Given the description of an element on the screen output the (x, y) to click on. 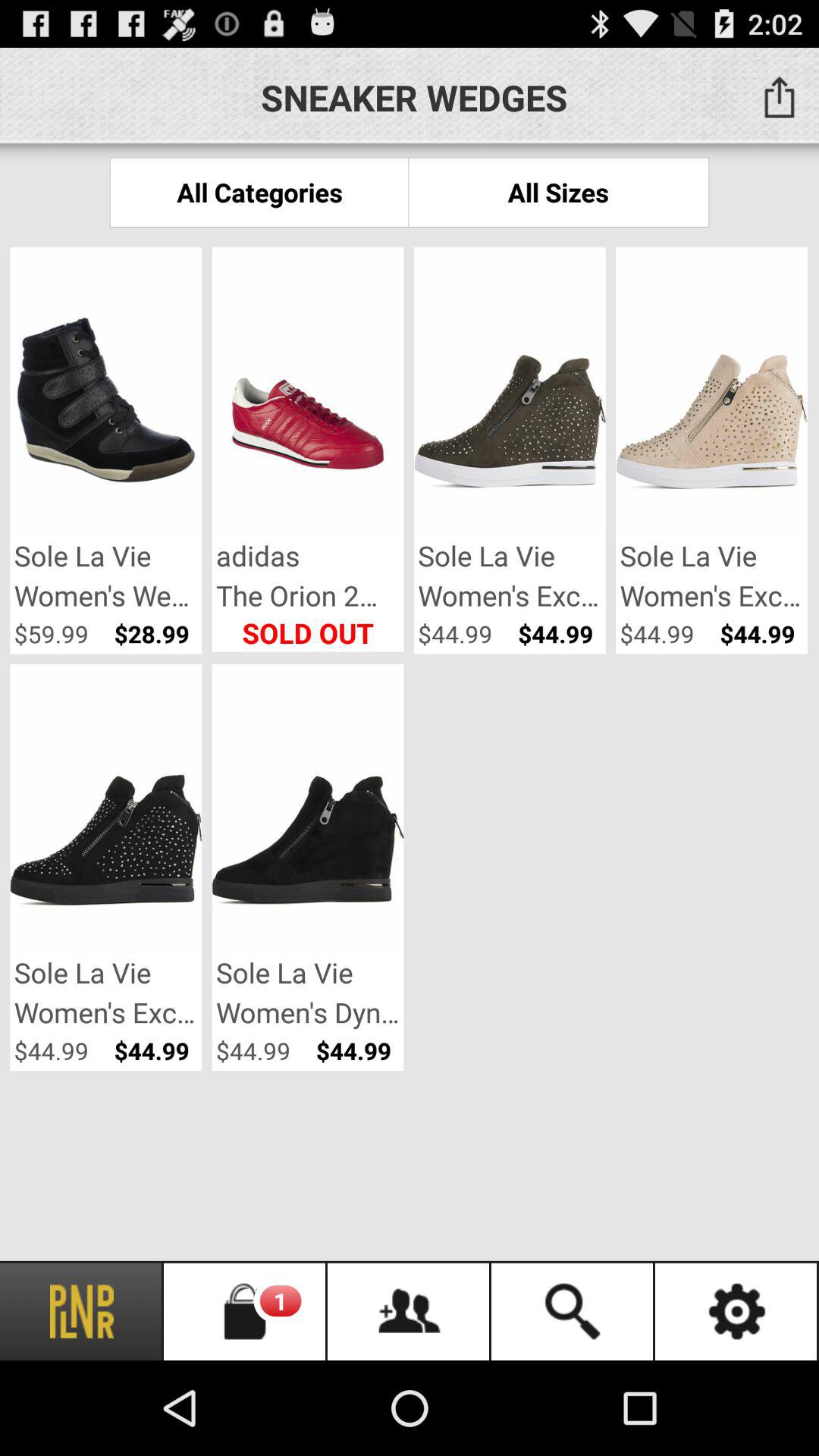
press the item below sneaker wedges app (259, 192)
